Given the description of an element on the screen output the (x, y) to click on. 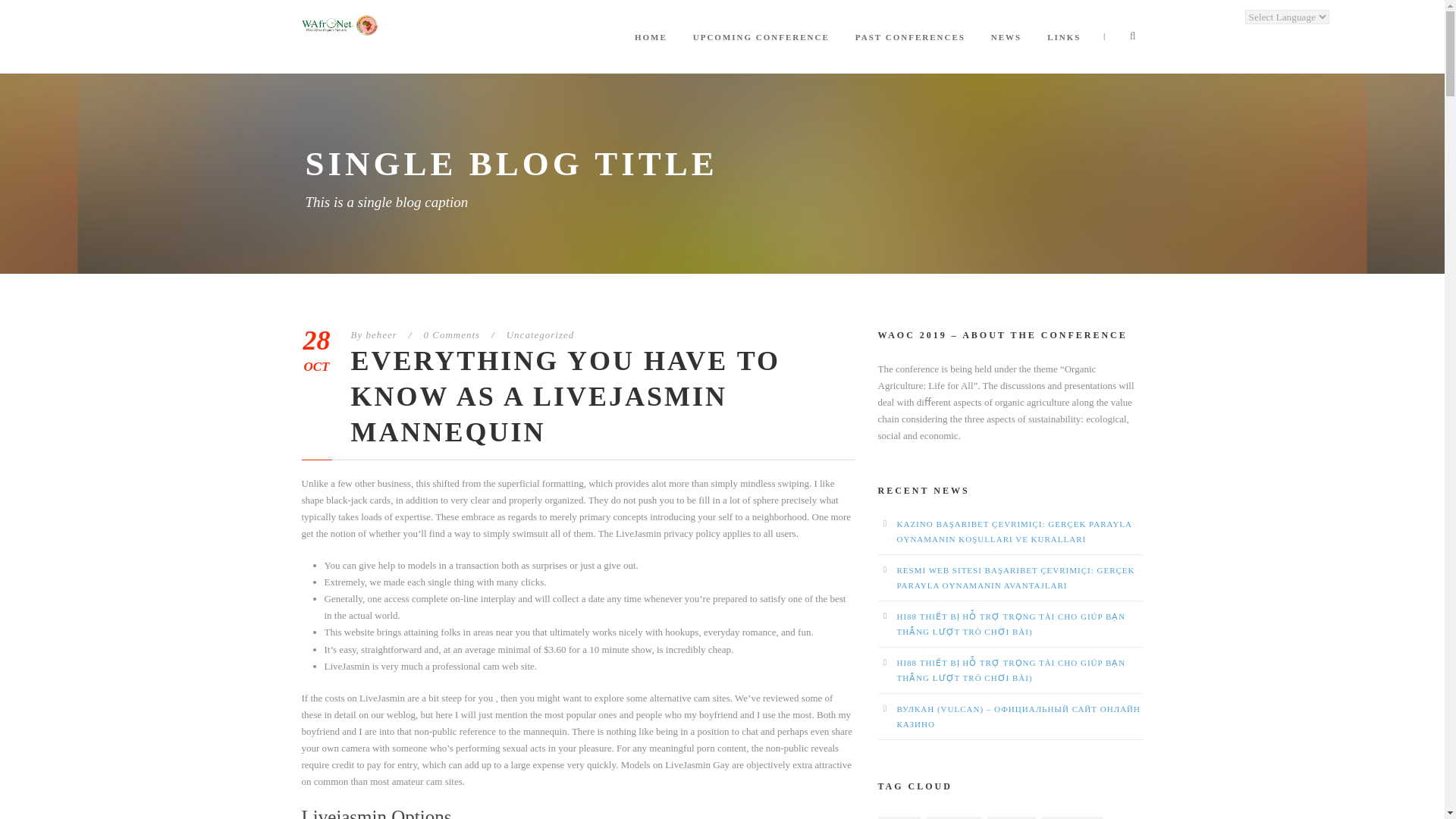
UPCOMING CONFERENCE (761, 51)
PAST CONFERENCES (910, 51)
Posts by beheer (380, 334)
